Given the description of an element on the screen output the (x, y) to click on. 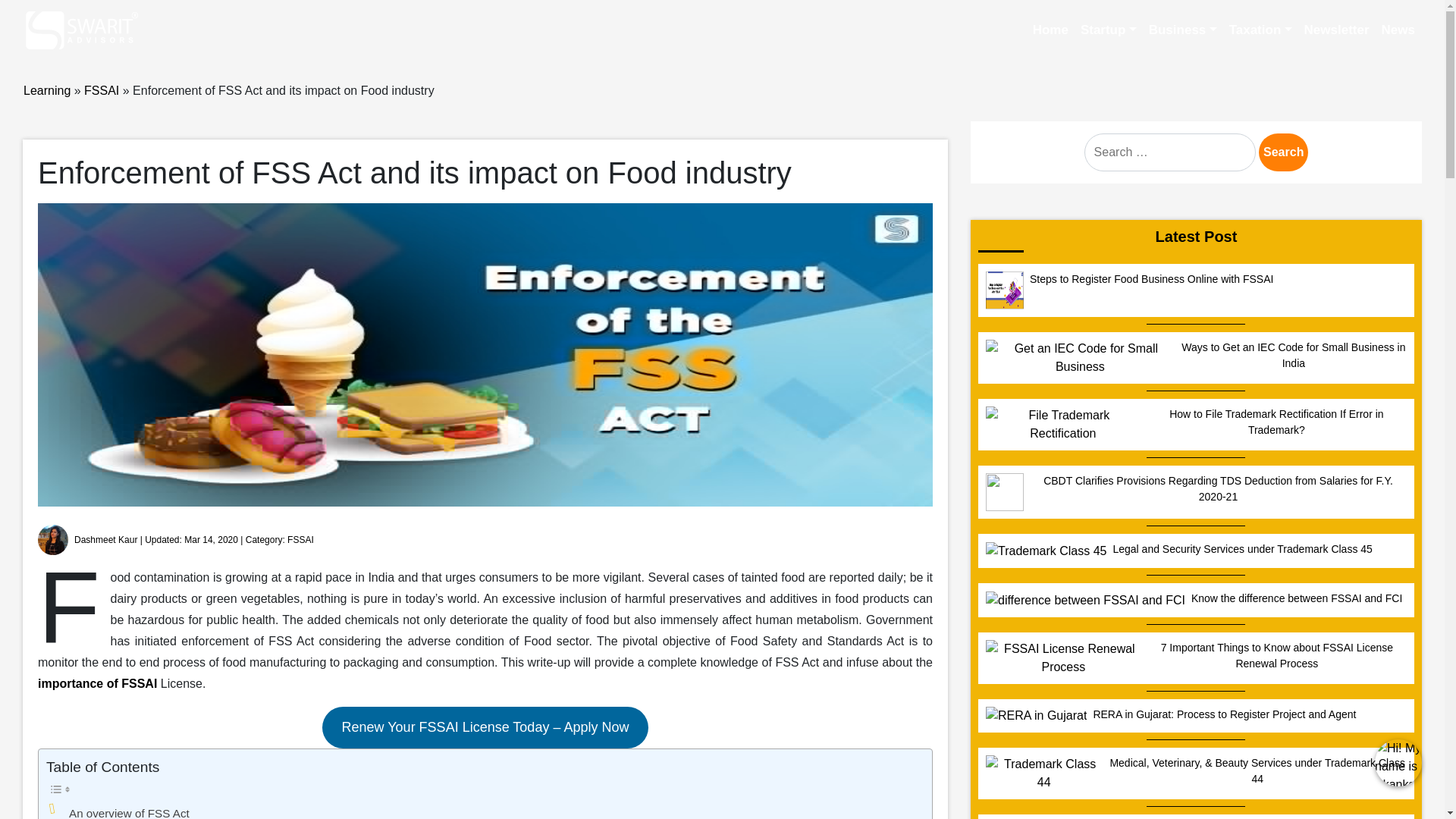
Learning (58, 235)
Dashmeet Kaur (39, 337)
Operations under Food Safety and Standards Act (149, 522)
FSSAI License (694, 127)
An overview of FSS Act (92, 509)
Penalties for Non-Compliance of FSS Act, 2006 (147, 563)
What is the need for the enforcement of FSS Act? (150, 536)
9711391484 (68, 18)
Sole Proprietorship (550, 127)
on (37, 483)
Peer to Peer lending (183, 154)
Import Export Code (779, 127)
Posts by Dashmeet Kaur (39, 337)
